Given the description of an element on the screen output the (x, y) to click on. 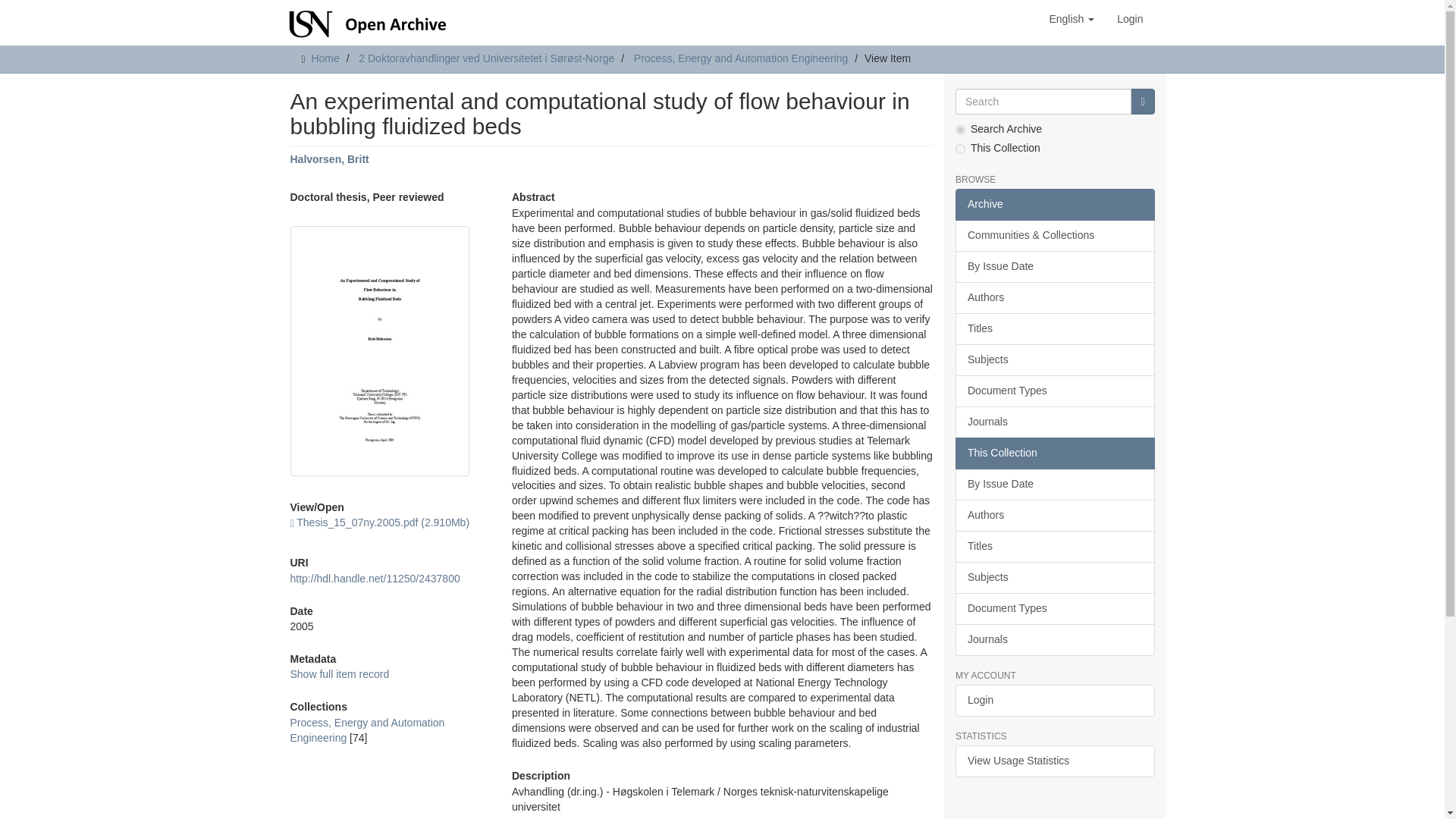
Authors (1054, 297)
Subjects (1054, 359)
Halvorsen, Britt (328, 159)
Go (1142, 101)
Process, Energy and Automation Engineering (366, 729)
Home (325, 58)
Titles (1054, 328)
Show full item record (338, 674)
By Issue Date (1054, 266)
Archive (1054, 204)
Journals (1054, 422)
English  (1070, 18)
Document Types (1054, 391)
Process, Energy and Automation Engineering (740, 58)
Login (1129, 18)
